Given the description of an element on the screen output the (x, y) to click on. 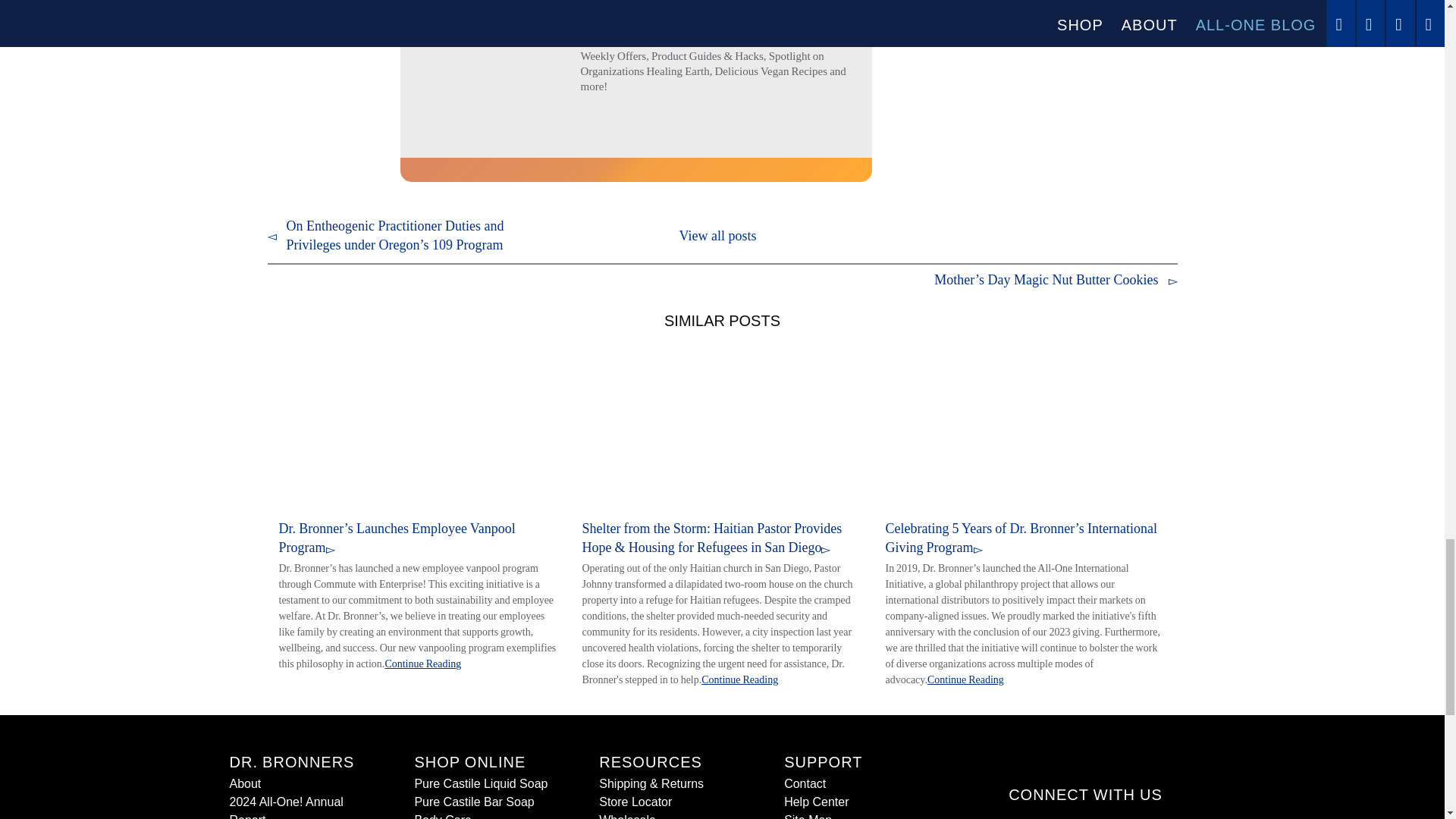
View all posts (717, 235)
